Given the description of an element on the screen output the (x, y) to click on. 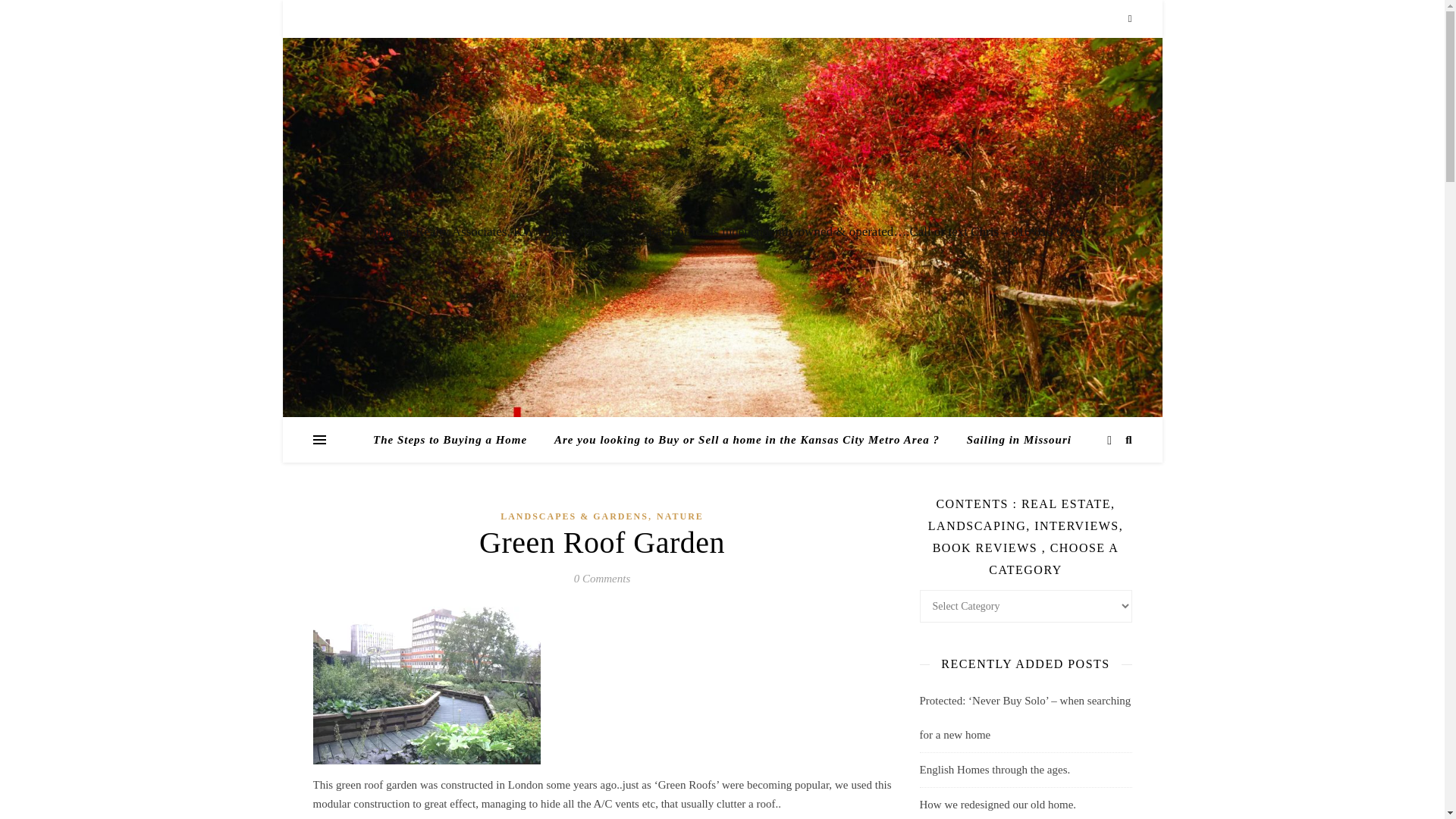
NATURE (679, 516)
English Homes through the ages. (994, 769)
Sailing in Missouri (1013, 439)
How we redesigned our old home. (996, 804)
The Steps to Buying a Home (455, 439)
0 Comments (601, 578)
